Given the description of an element on the screen output the (x, y) to click on. 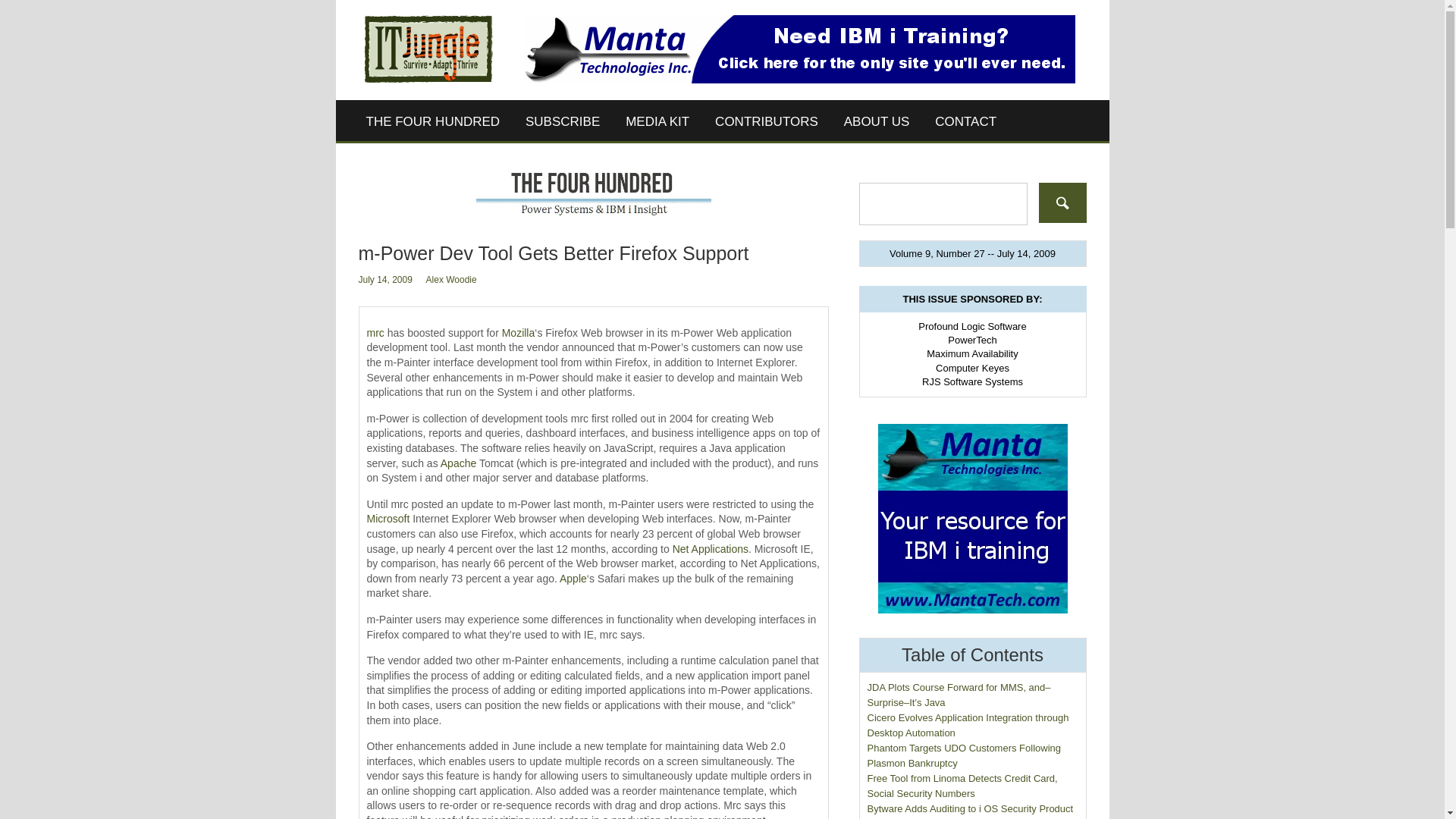
Apple (572, 578)
Apache (458, 463)
MEDIA KIT (657, 121)
ABOUT US (876, 121)
Net Applications (710, 548)
SUBSCRIBE (562, 121)
CONTACT (965, 121)
THE FOUR HUNDRED (433, 121)
Mozilla (518, 332)
CONTRIBUTORS (766, 121)
Microsoft (388, 518)
mrc (375, 332)
Search (1062, 202)
